Given the description of an element on the screen output the (x, y) to click on. 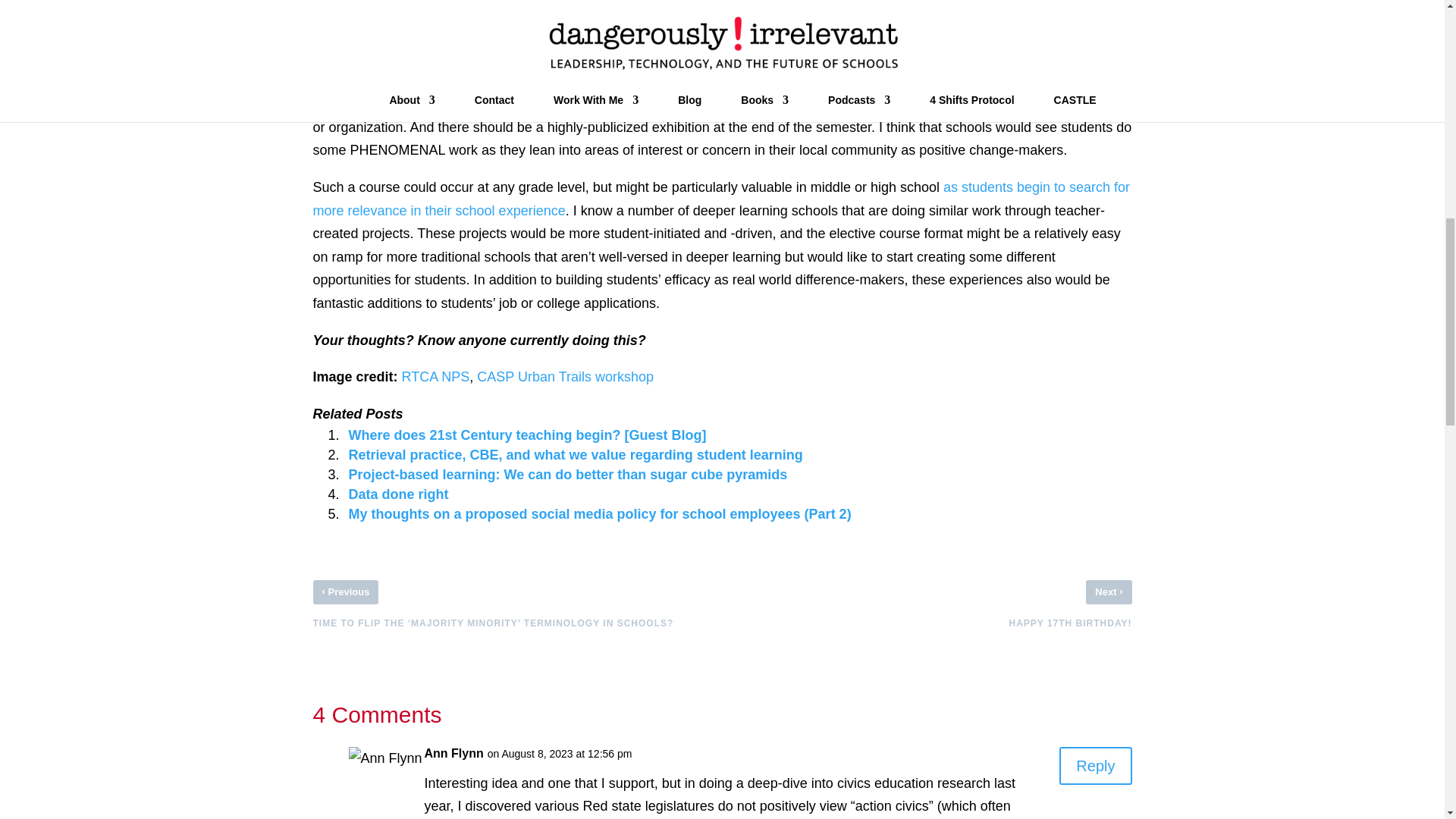
Data done right (398, 494)
